Given the description of an element on the screen output the (x, y) to click on. 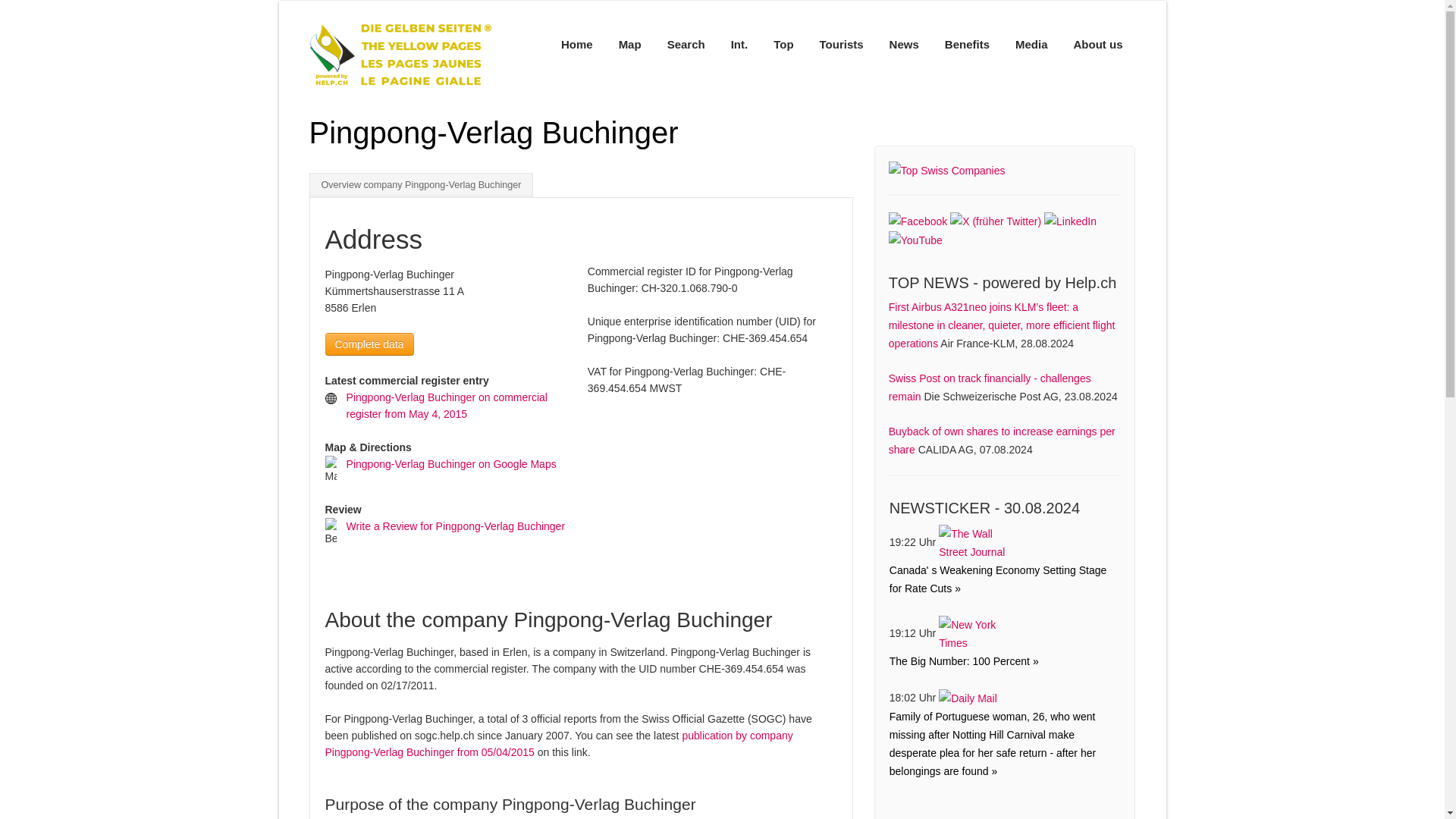
Buyback of own shares to increase earnings per share (1001, 440)
Search (686, 44)
Media (1031, 44)
News (903, 44)
Overview company Pingpong-Verlag Buchinger (421, 184)
See us on LinkedIn (1069, 220)
About us (1097, 44)
Swiss Post on track financially - challenges remain (989, 387)
Pingpong-Verlag Buchinger on Google Maps (451, 463)
Complete data (368, 343)
